Given the description of an element on the screen output the (x, y) to click on. 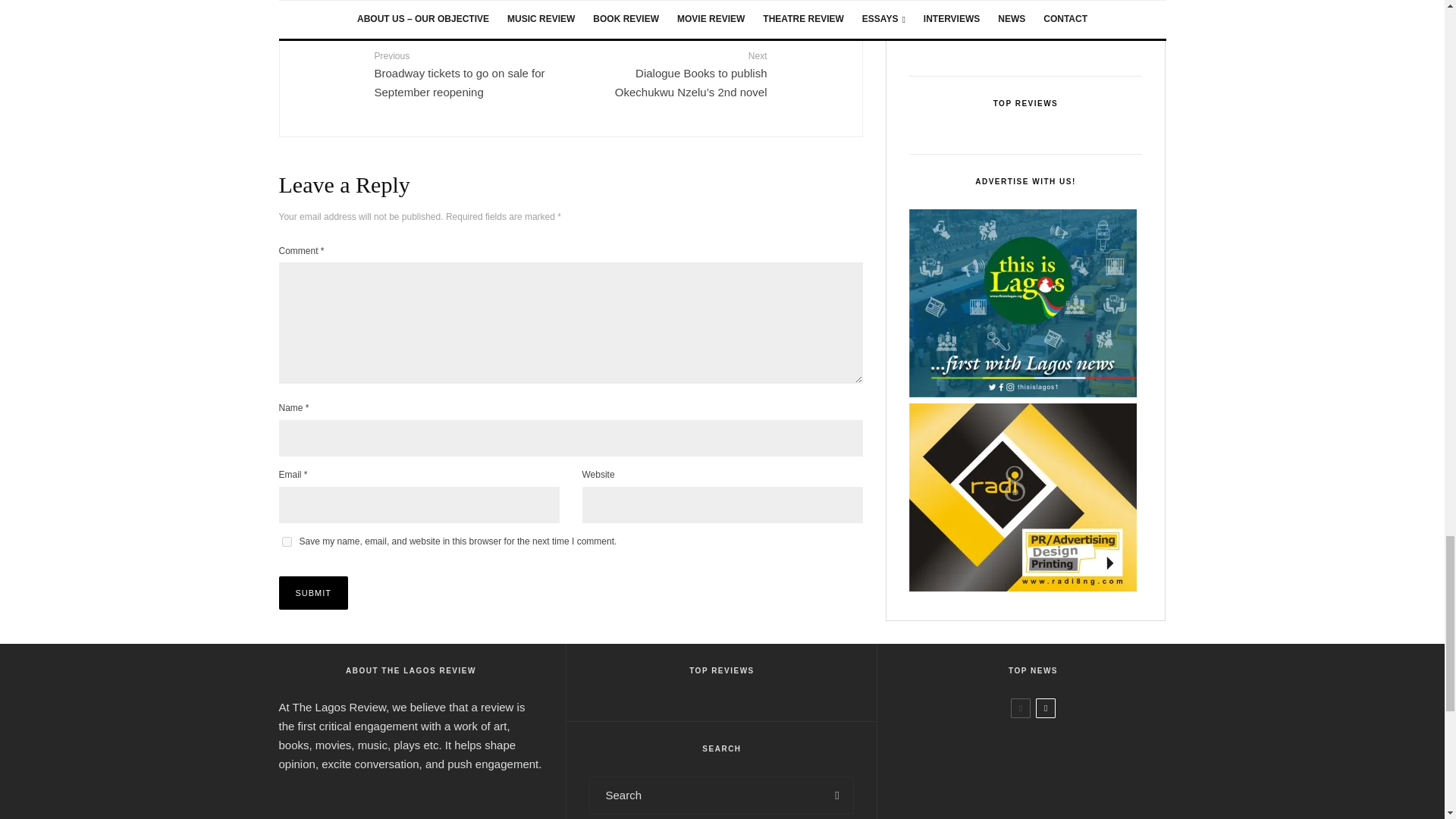
Submit (314, 592)
yes (287, 542)
